Given the description of an element on the screen output the (x, y) to click on. 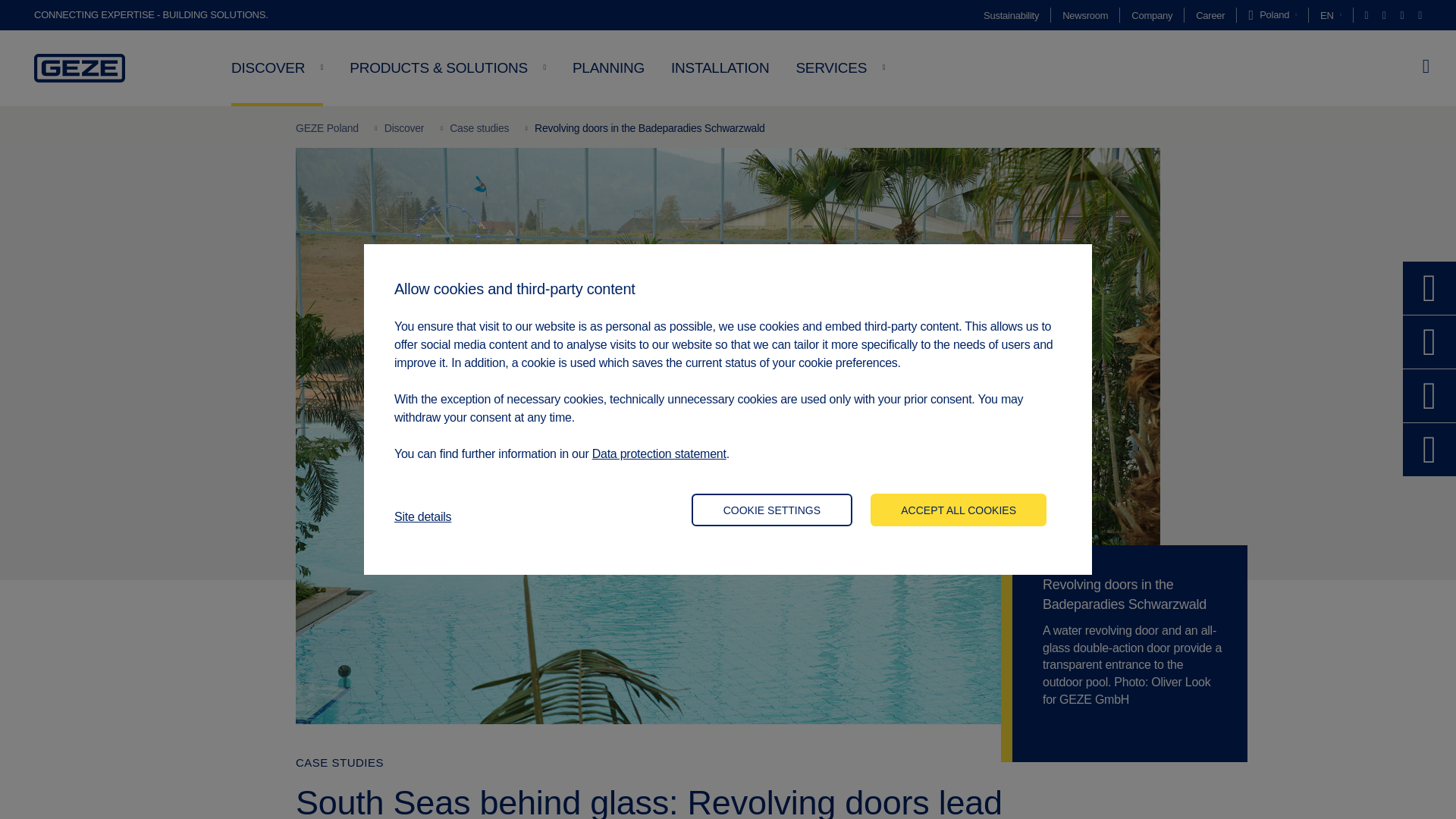
Sustainability (1011, 15)
Career (1209, 15)
Poland (1272, 15)
Company (1151, 15)
Career (1209, 15)
Company (1151, 15)
Sustainability (1011, 15)
Newsroom (1085, 15)
Newsroom (1085, 15)
